Given the description of an element on the screen output the (x, y) to click on. 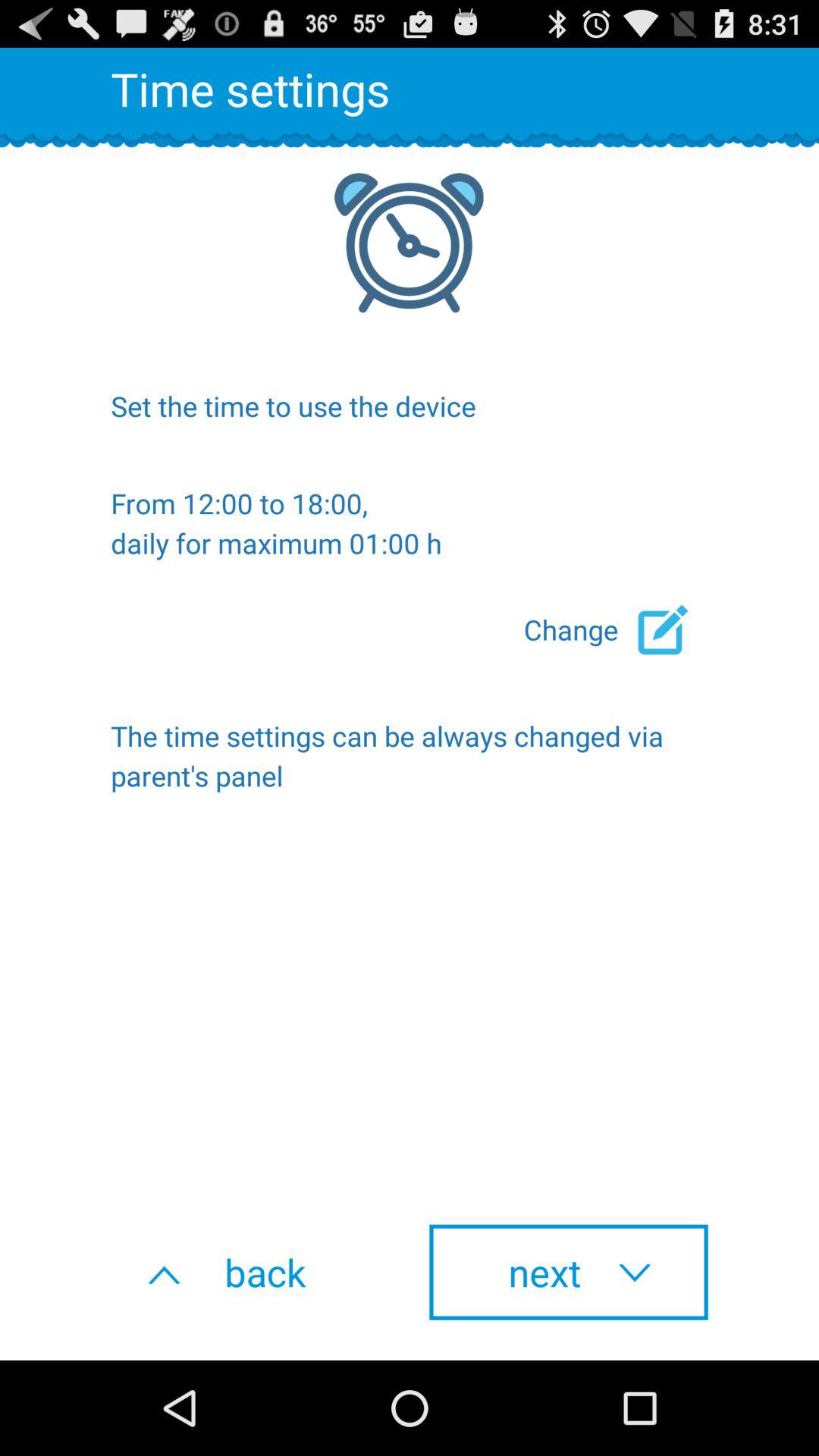
select app below from 12 00 icon (615, 629)
